Given the description of an element on the screen output the (x, y) to click on. 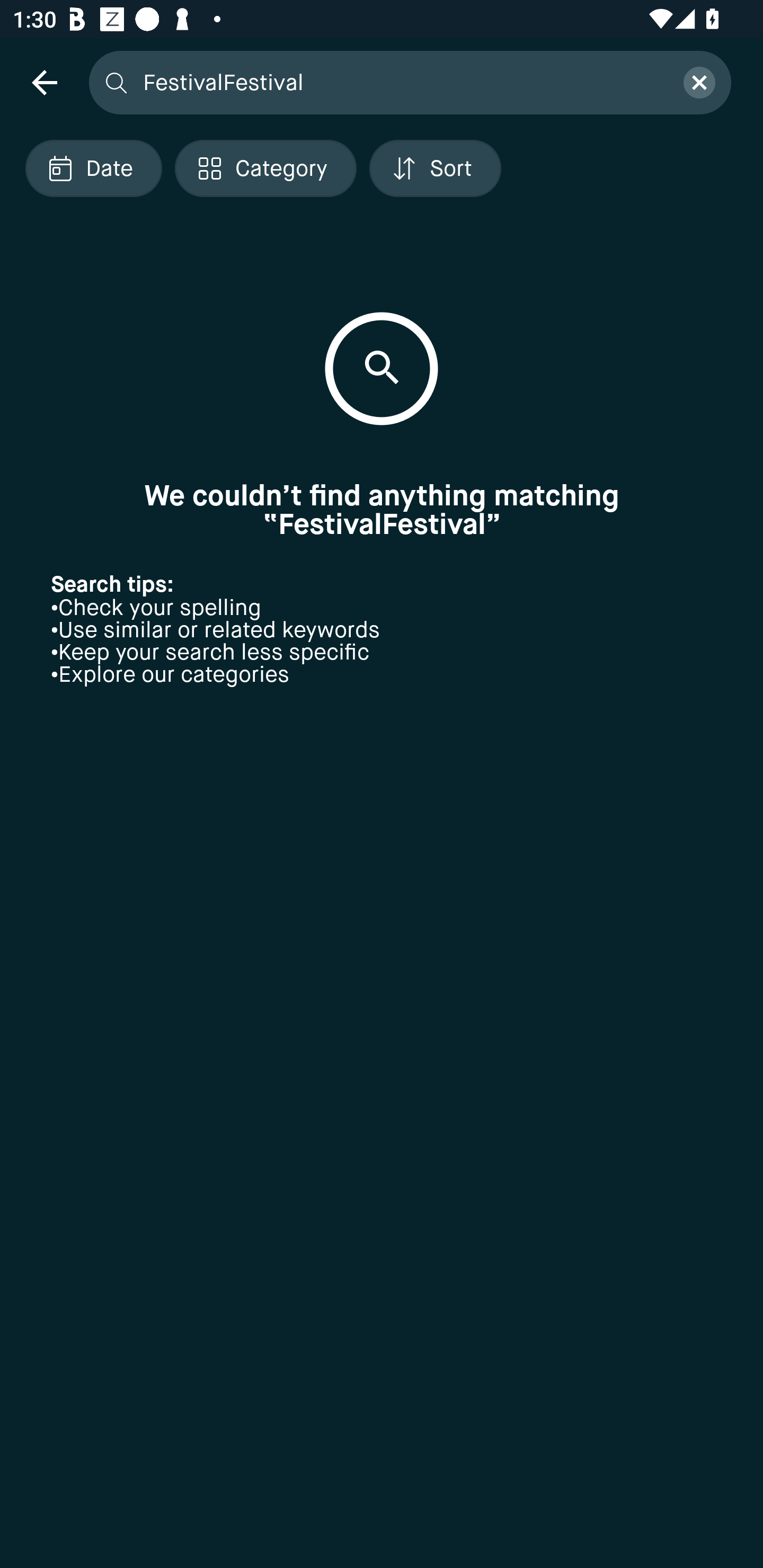
navigation icon (44, 81)
FestivalFestival (402, 81)
Localized description Date (93, 168)
Localized description Category (265, 168)
Localized description Sort (435, 168)
